Given the description of an element on the screen output the (x, y) to click on. 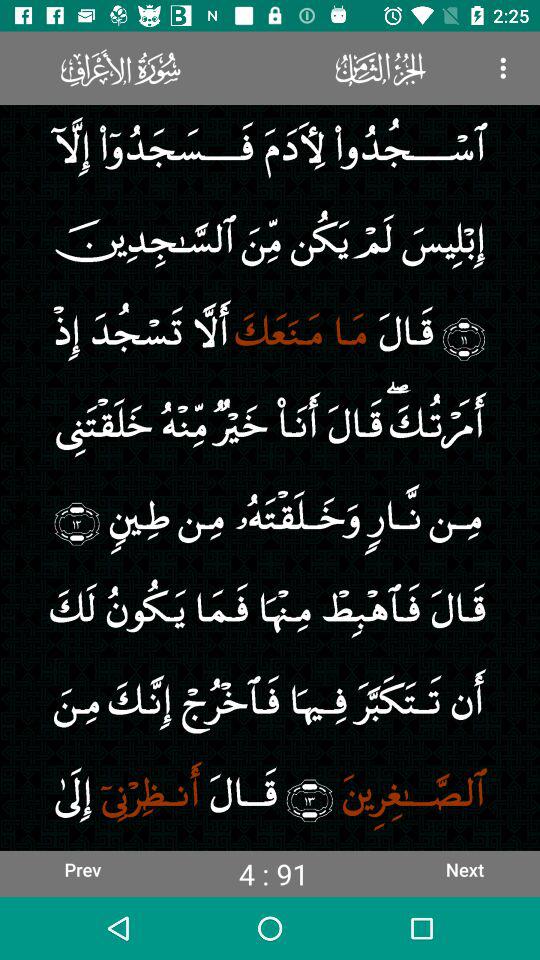
swipe until the prev item (82, 869)
